Given the description of an element on the screen output the (x, y) to click on. 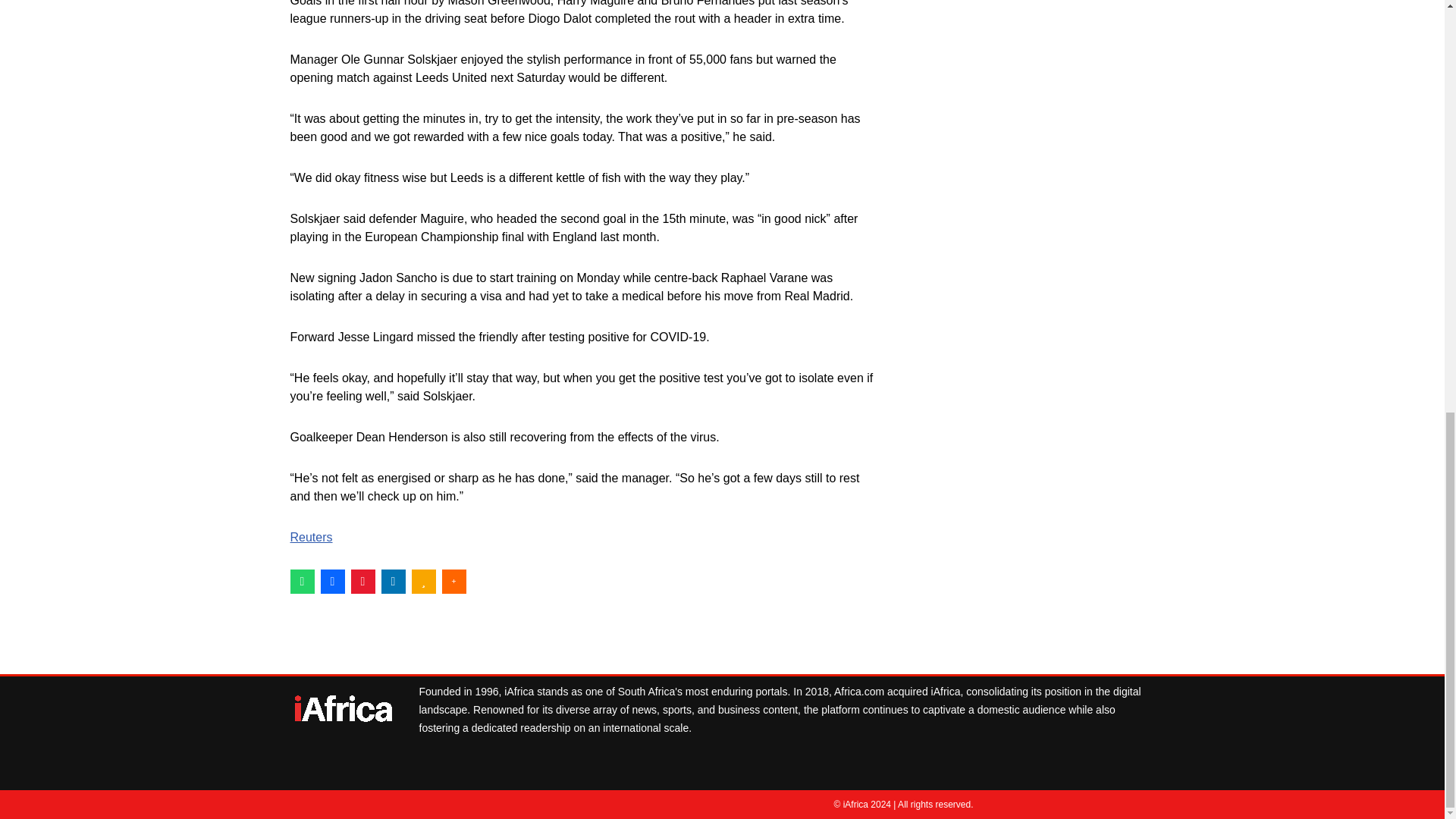
WhatsApp (301, 581)
Convert to PDF (362, 581)
Share this on Facebook (331, 581)
More share links (453, 581)
Reuters (310, 536)
Add this to LinkedIn (392, 581)
Add to favorites (422, 581)
